Given the description of an element on the screen output the (x, y) to click on. 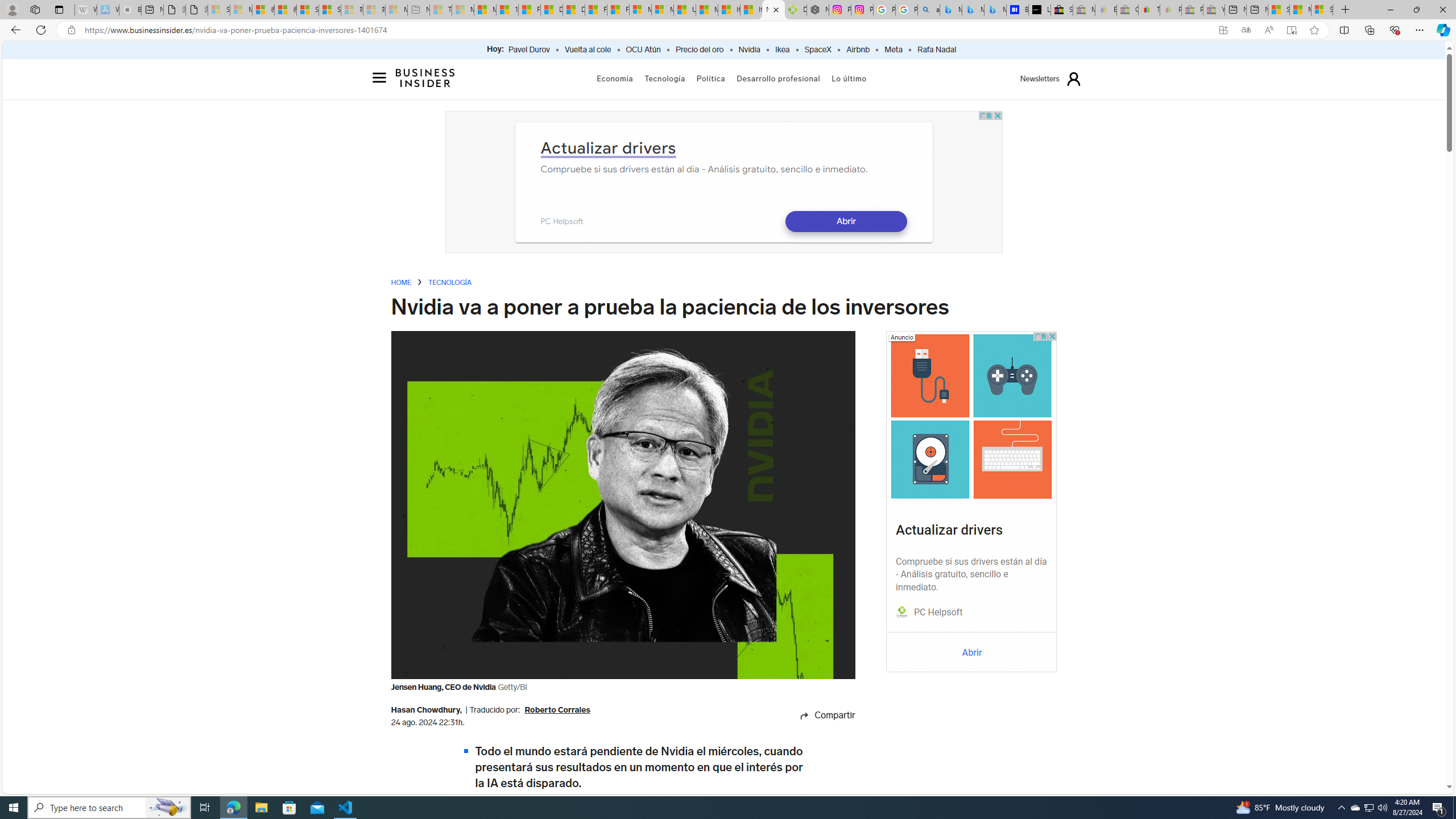
Enter Immersive Reader (F9) (1291, 29)
Desarrollo profesional (778, 78)
Desarrollo profesional (778, 78)
SpaceX (817, 49)
Rafa Nadal (936, 49)
Airbnb (857, 49)
Share icon Compartir (815, 715)
Microsoft account | Account Checkup - Sleeping (396, 9)
Sign in to your Microsoft account - Sleeping (218, 9)
